Given the description of an element on the screen output the (x, y) to click on. 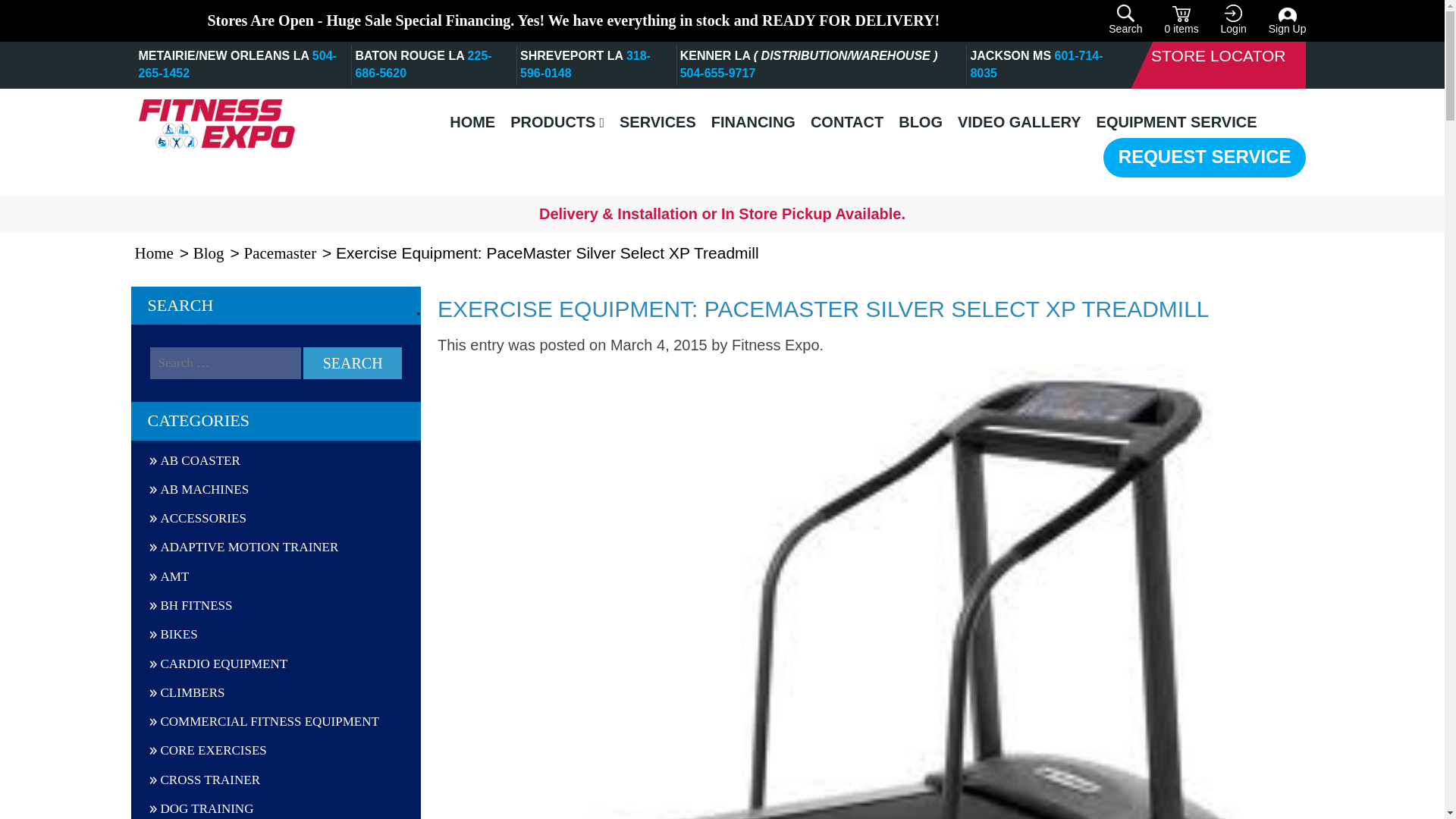
PRODUCTS (557, 122)
318-596-0148 (584, 64)
HOME (472, 122)
View your shopping cart (1181, 20)
Go to the Pacemaster category archives. (281, 253)
Go to Blog. (209, 253)
Go to Fitness Expo. (154, 253)
601-714-8035 (1035, 64)
504-655-9717 (717, 72)
STORE LOCATOR (1218, 55)
0 items (1181, 20)
CONTACT (846, 122)
504-265-1452 (237, 64)
225-686-5620 (423, 64)
SERVICES (657, 122)
